Given the description of an element on the screen output the (x, y) to click on. 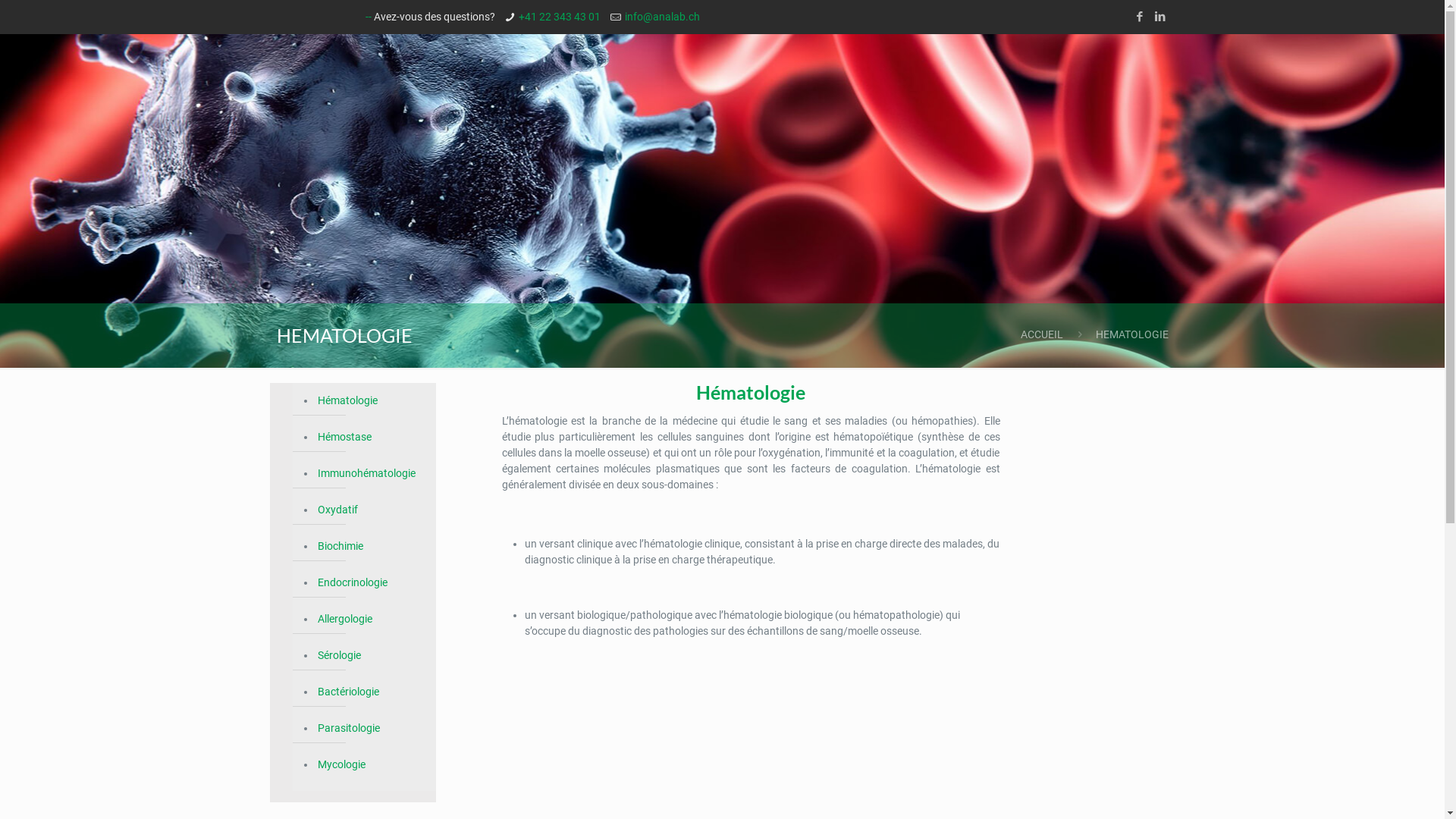
Parasitologie Element type: text (371, 728)
HEMATOLOGIE Element type: text (1131, 334)
info@analab.ch Element type: text (661, 16)
Oxydatif Element type: text (371, 509)
+41 22 343 43 01 Element type: text (559, 16)
-- Element type: text (369, 16)
Biochimie Element type: text (371, 546)
ACCUEIL Element type: text (1041, 334)
Endocrinologie Element type: text (371, 582)
Facebook Element type: hover (1139, 16)
Mycologie Element type: text (371, 764)
LinkedIn Element type: hover (1160, 16)
Allergologie Element type: text (371, 619)
